Given the description of an element on the screen output the (x, y) to click on. 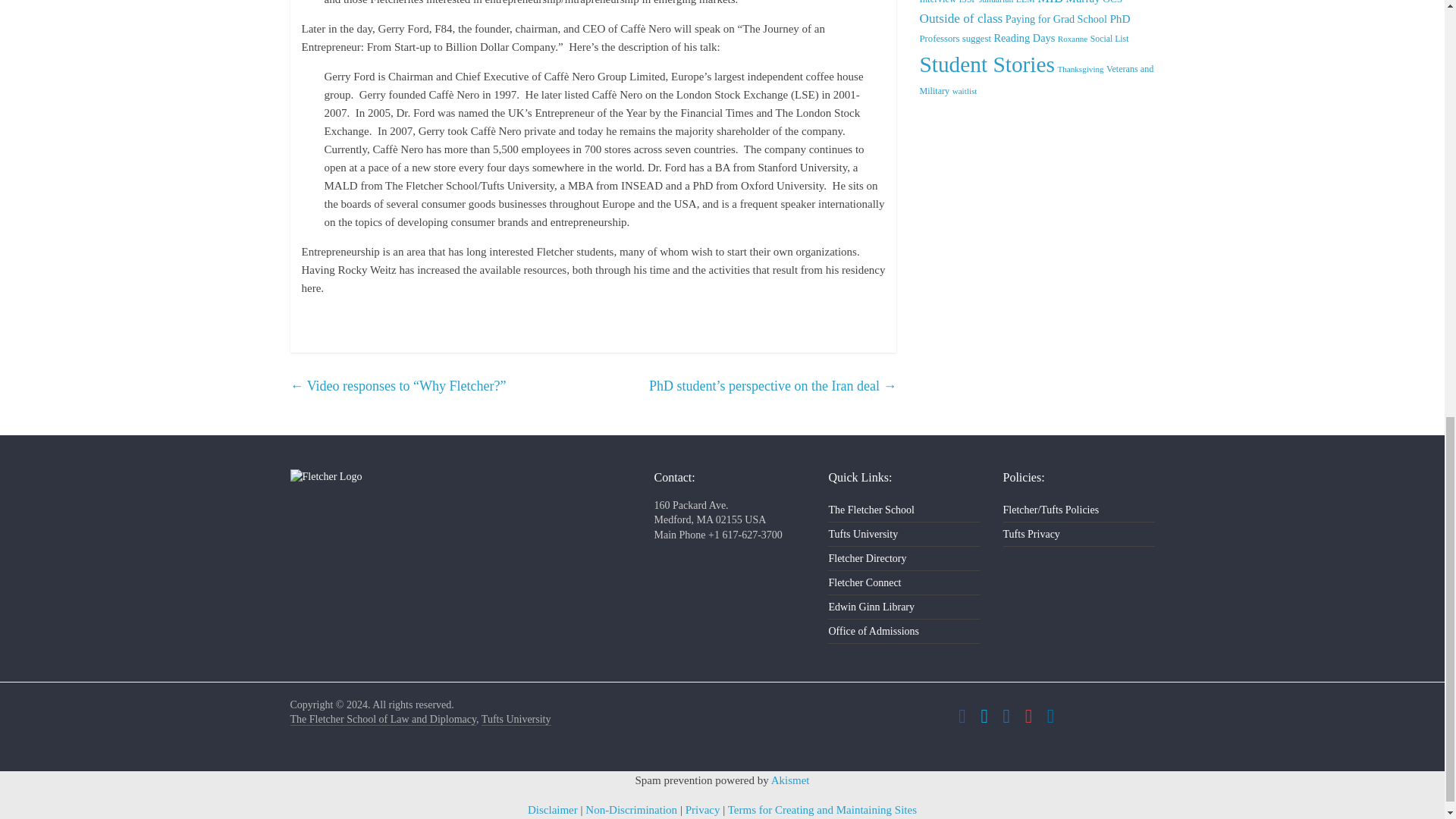
The Fletcher School (382, 719)
Tufts University (516, 719)
